Given the description of an element on the screen output the (x, y) to click on. 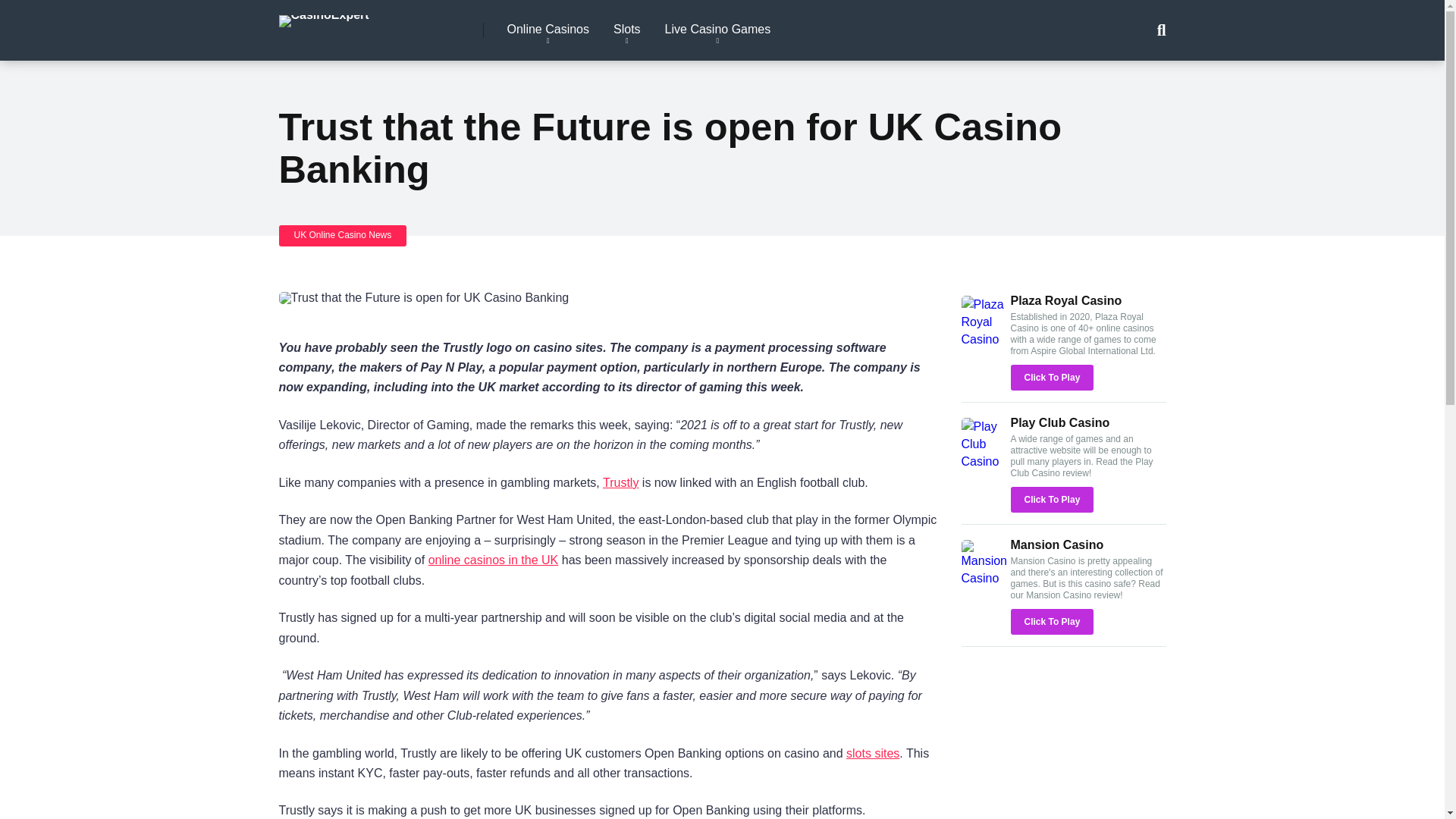
Plaza Royal Casino (985, 338)
UK Online Casino News (343, 235)
Click To Play (1051, 499)
online casinos in the UK (493, 559)
slots sites (872, 752)
Click To Play (1051, 377)
Click To Play (1051, 499)
Mansion Casino (985, 577)
Plaza Royal Casino (1065, 300)
Play Club Casino (1059, 422)
Play Club Casino (985, 461)
Click To Play (1051, 377)
Plaza Royal Casino (1065, 300)
Live Casino Games (717, 30)
Play Club Casino (1059, 422)
